Given the description of an element on the screen output the (x, y) to click on. 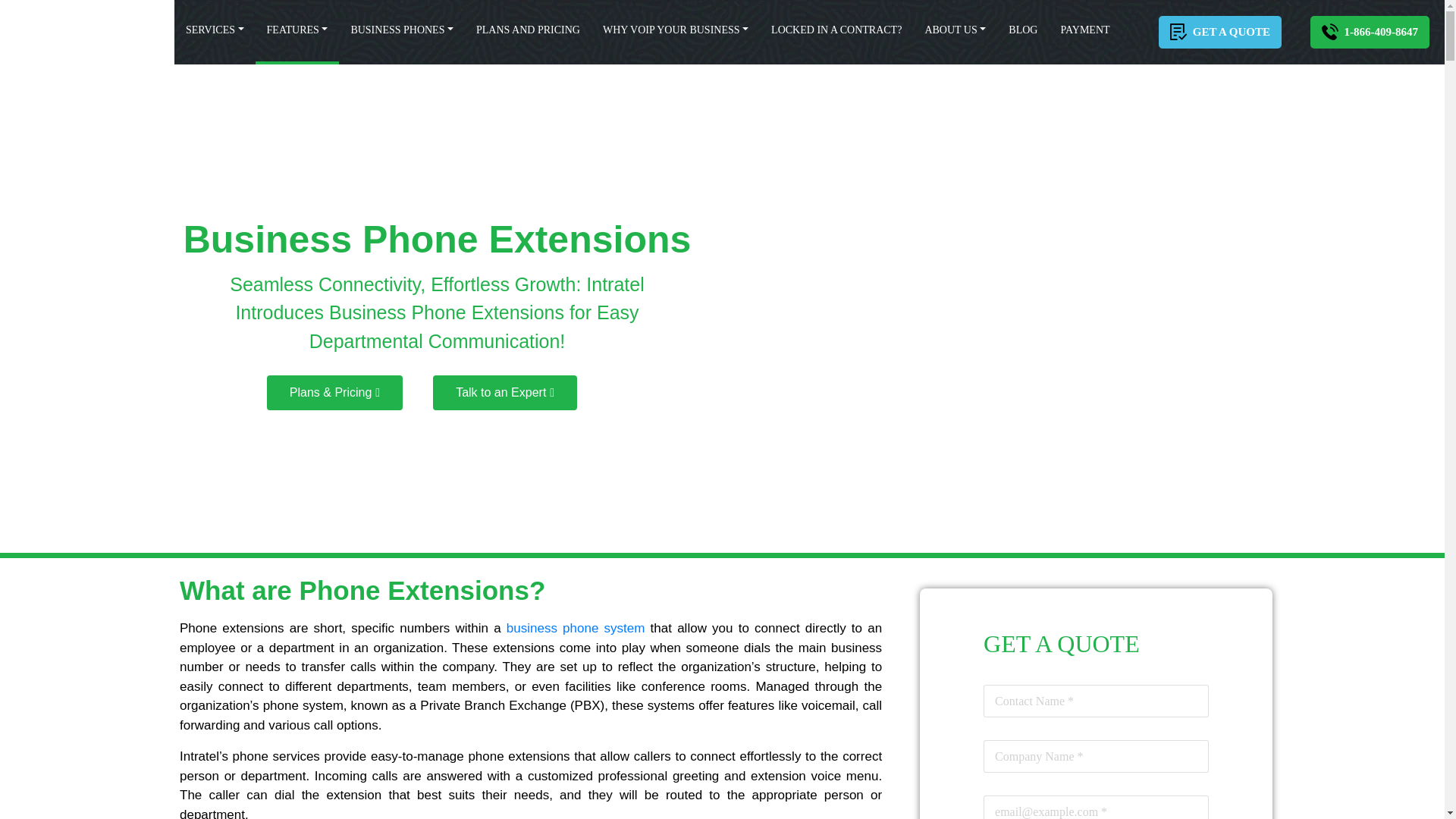
PAYMENT (1084, 29)
BLOG (1022, 29)
Services (215, 29)
FEATURES (297, 29)
LOCKED IN A CONTRACT? (836, 29)
GET A QUOTE (1219, 31)
WHY VOIP YOUR BUSINESS (675, 29)
PLANS AND PRICING (527, 29)
BUSINESS PHONES (401, 29)
ABOUT US (954, 29)
